Given the description of an element on the screen output the (x, y) to click on. 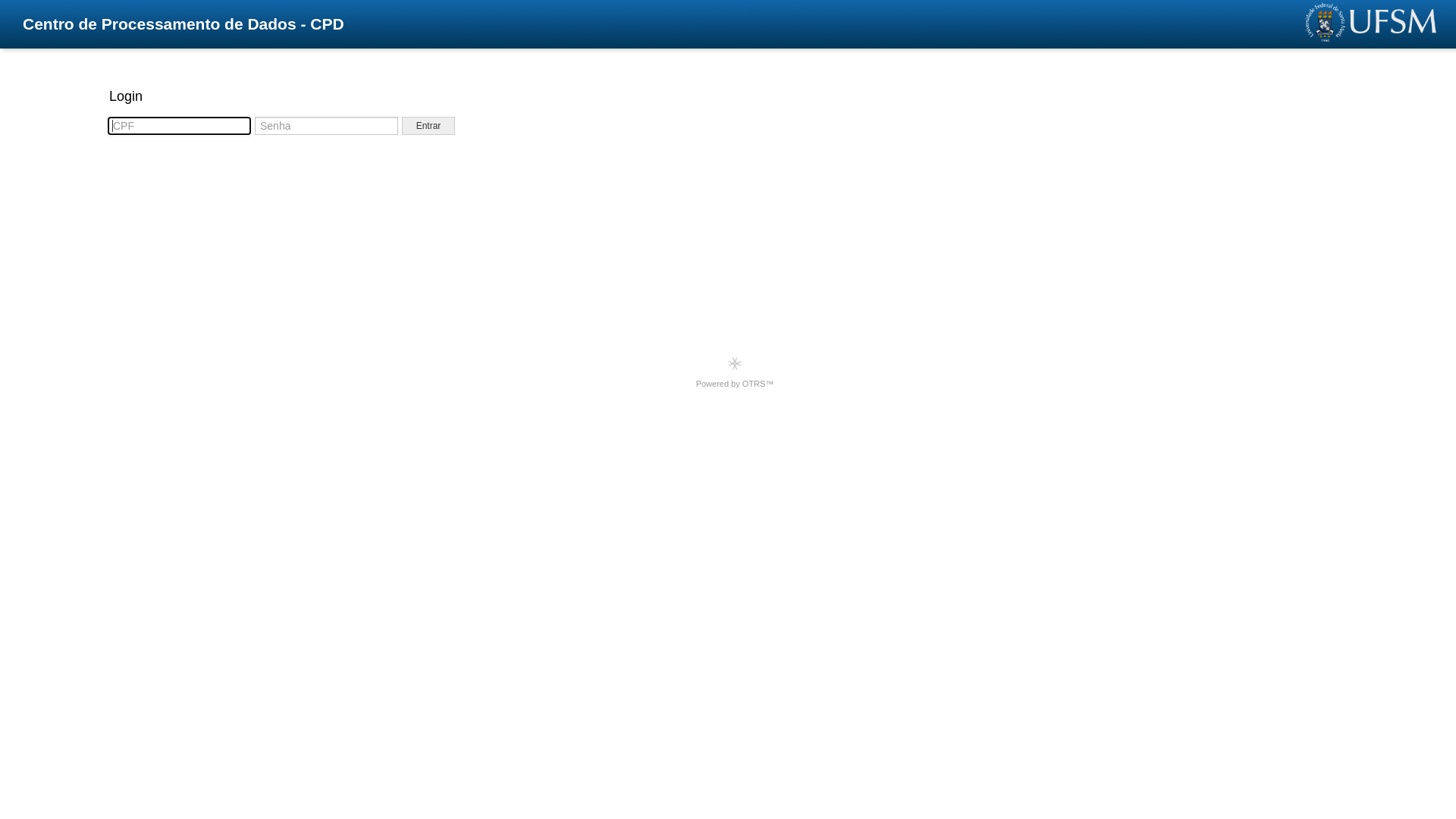
Sua senha Element type: hover (326, 125)
Entrar Element type: text (428, 125)
Centro de Processamento de Dados - CPD Element type: text (183, 23)
